Given the description of an element on the screen output the (x, y) to click on. 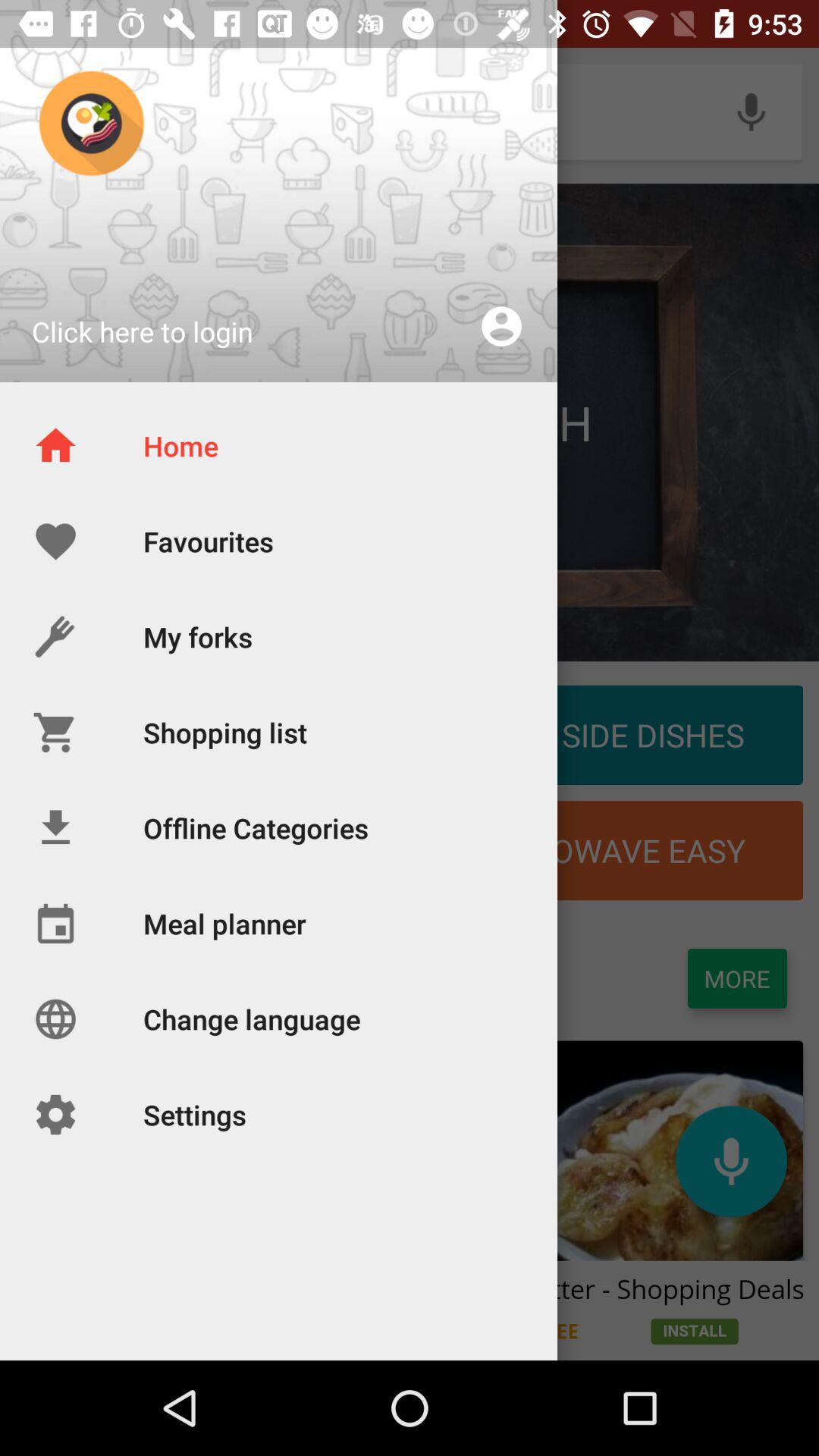
click on shopping list (208, 734)
